Given the description of an element on the screen output the (x, y) to click on. 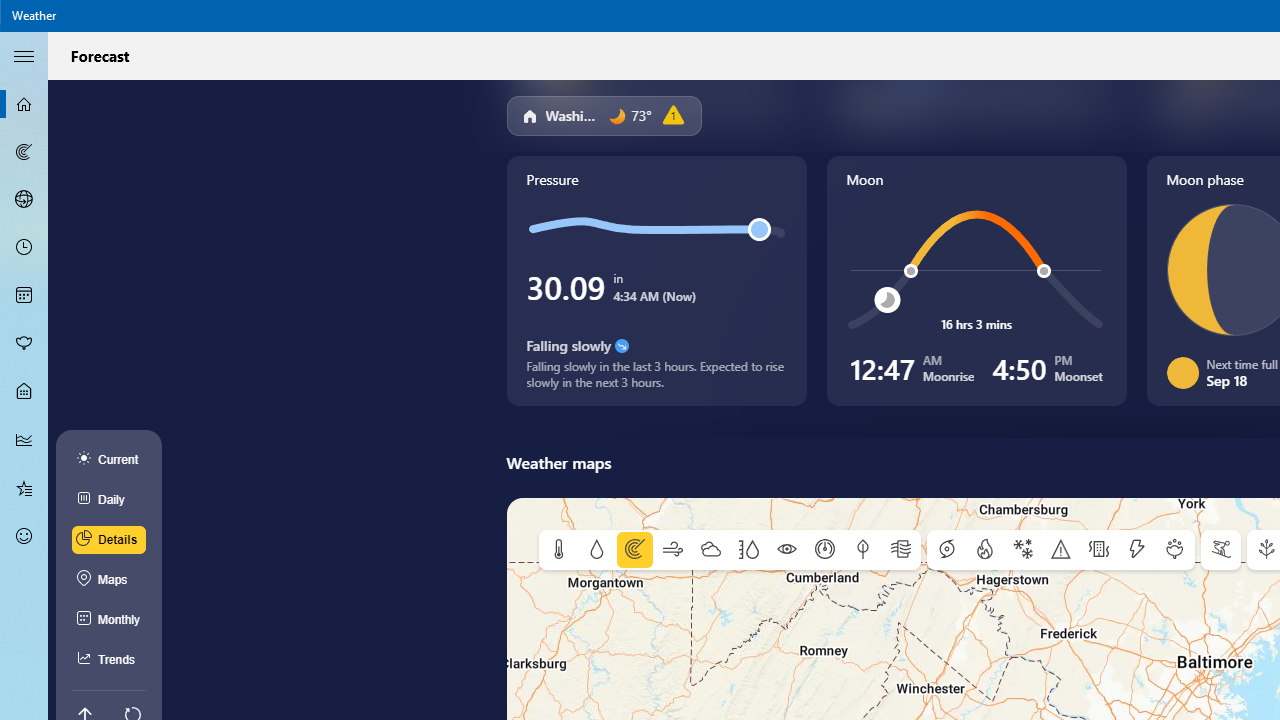
Monthly Forecast - Not Selected (24, 295)
Send Feedback - Not Selected (24, 535)
Hourly Forecast - Not Selected (24, 247)
Forecast - Not Selected (24, 103)
Favorites - Not Selected (24, 487)
Life - Not Selected (24, 391)
